Given the description of an element on the screen output the (x, y) to click on. 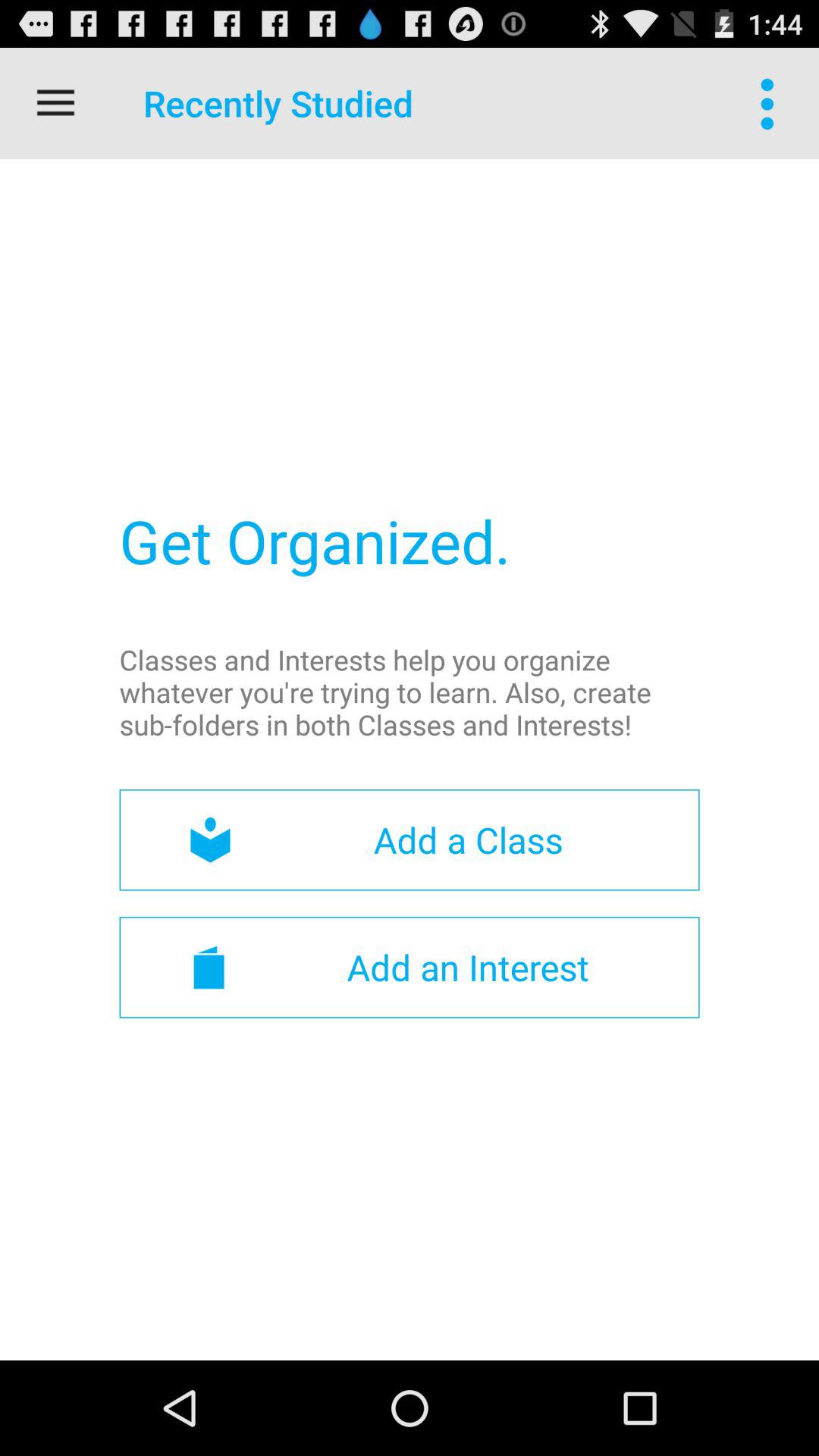
select item next to recently studied icon (771, 103)
